Given the description of an element on the screen output the (x, y) to click on. 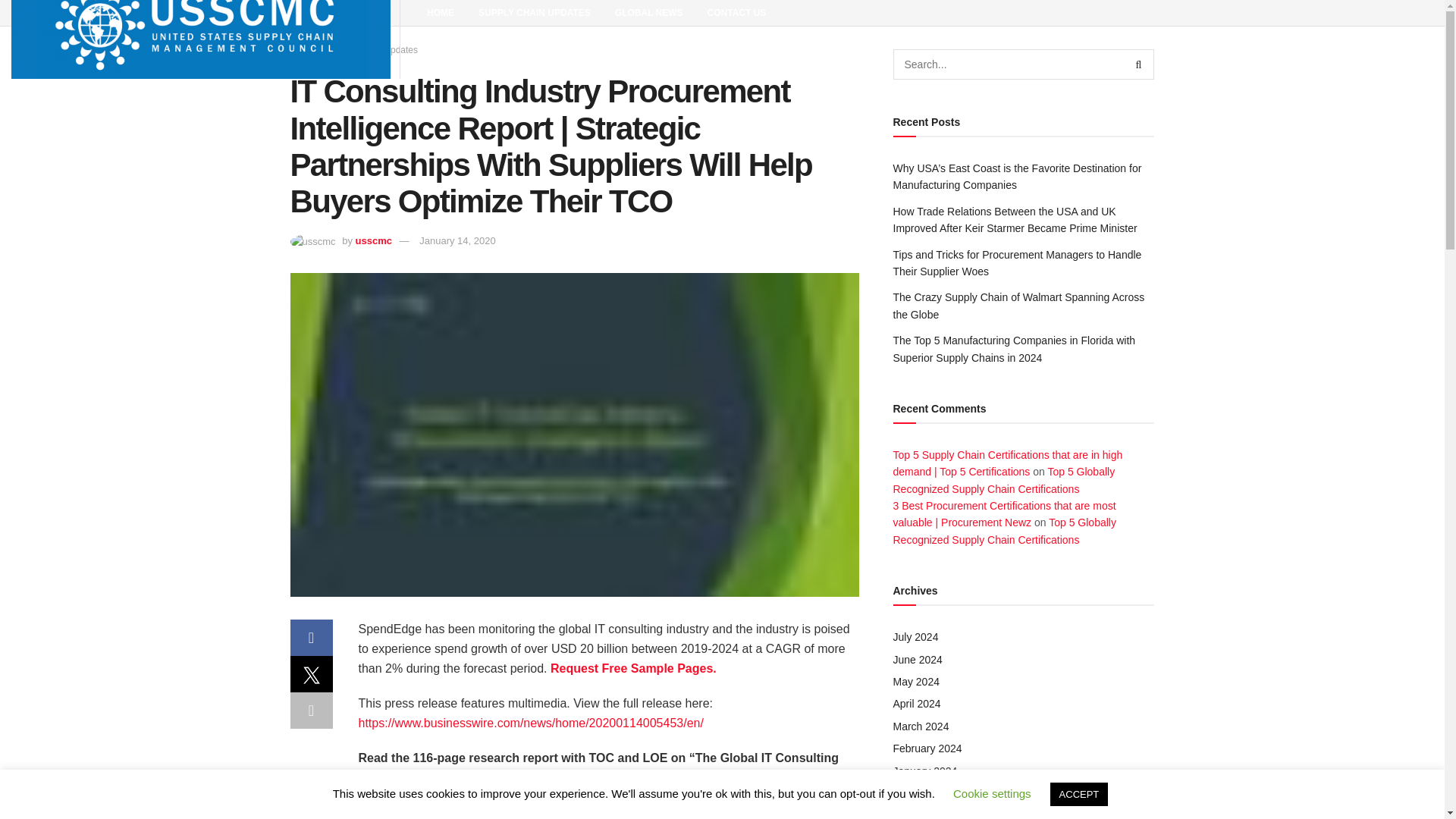
SUPPLY CHAIN UPDATES (533, 12)
Supply Chain Updates (372, 50)
Home (301, 50)
CONTACT US (736, 12)
The Crazy Supply Chain of Walmart Spanning Across the Globe (1018, 305)
January 14, 2020 (457, 240)
usscmc (373, 240)
GLOBAL NEWS (648, 12)
Request Free Sample Pages. (633, 667)
HOME (439, 12)
